Given the description of an element on the screen output the (x, y) to click on. 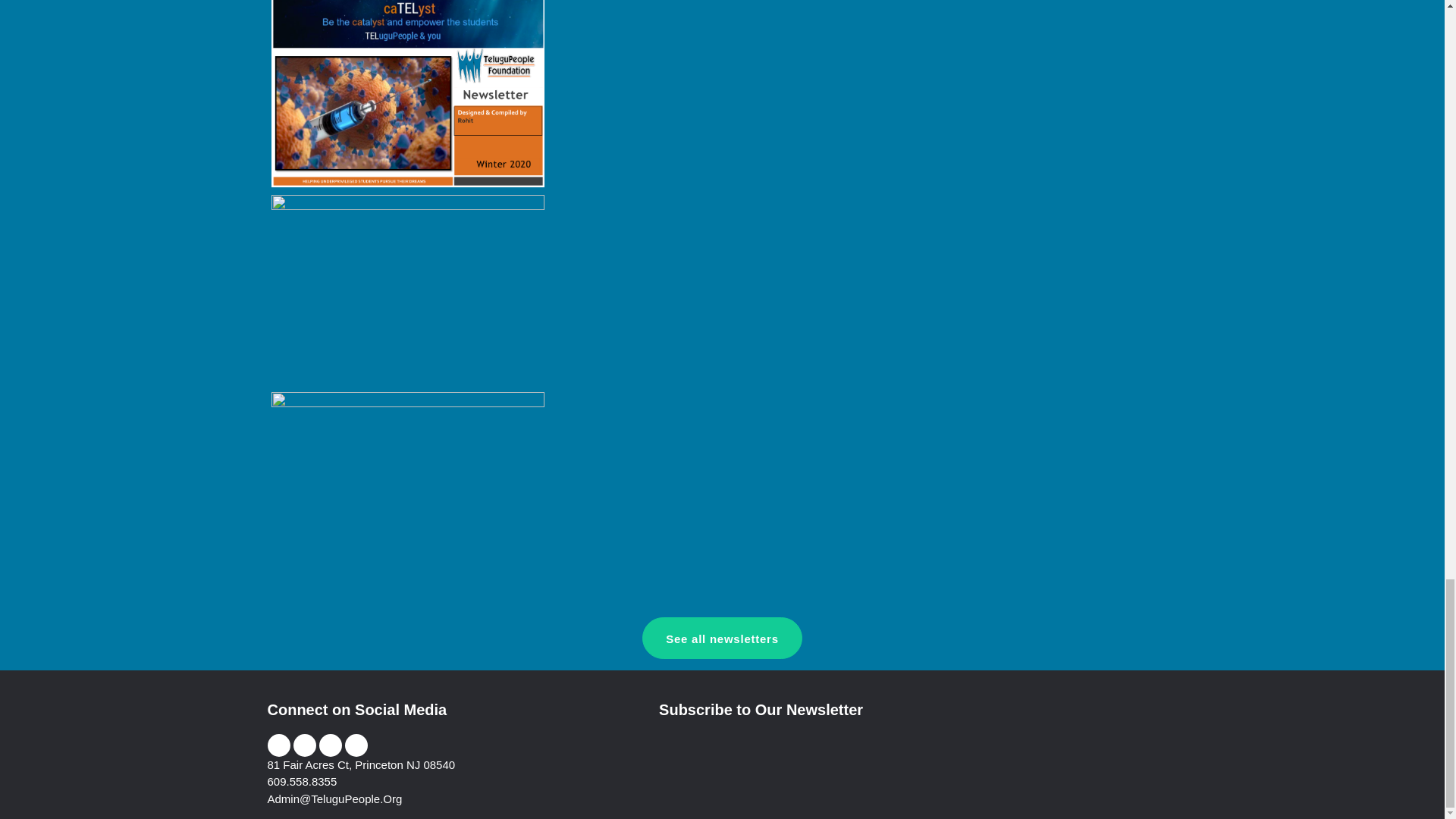
Winter '20 (407, 93)
Winter '19 (407, 287)
Winter '19 (407, 289)
Winter '20 (407, 86)
